Given the description of an element on the screen output the (x, y) to click on. 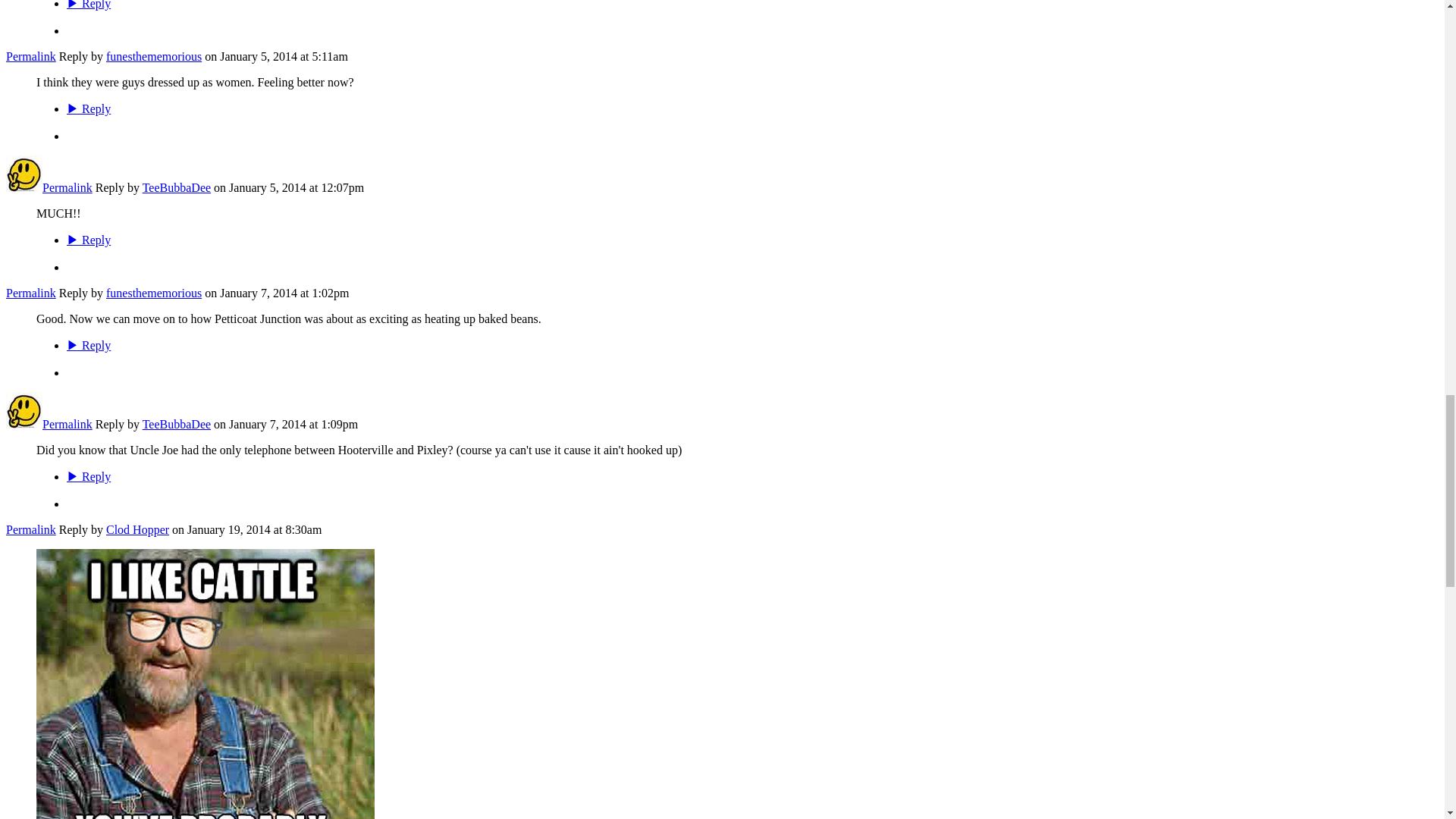
TeeBubbaDee (23, 187)
Permalink to this Reply (67, 187)
Permalink to this Reply (30, 292)
TeeBubbaDee (23, 423)
Permalink to this Reply (30, 56)
Permalink to this Reply (67, 423)
